Given the description of an element on the screen output the (x, y) to click on. 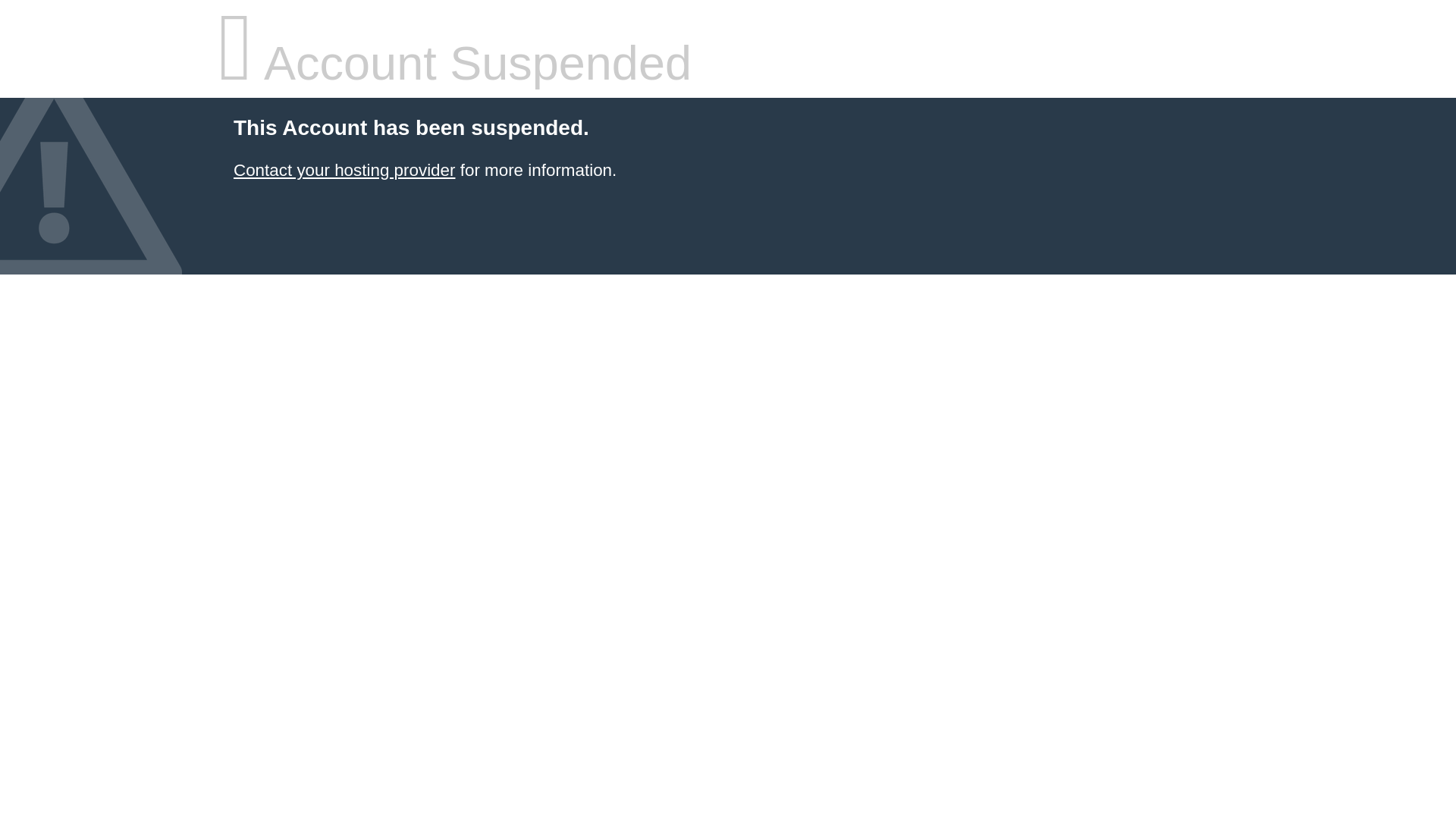
Contact your hosting provider (343, 169)
